Given the description of an element on the screen output the (x, y) to click on. 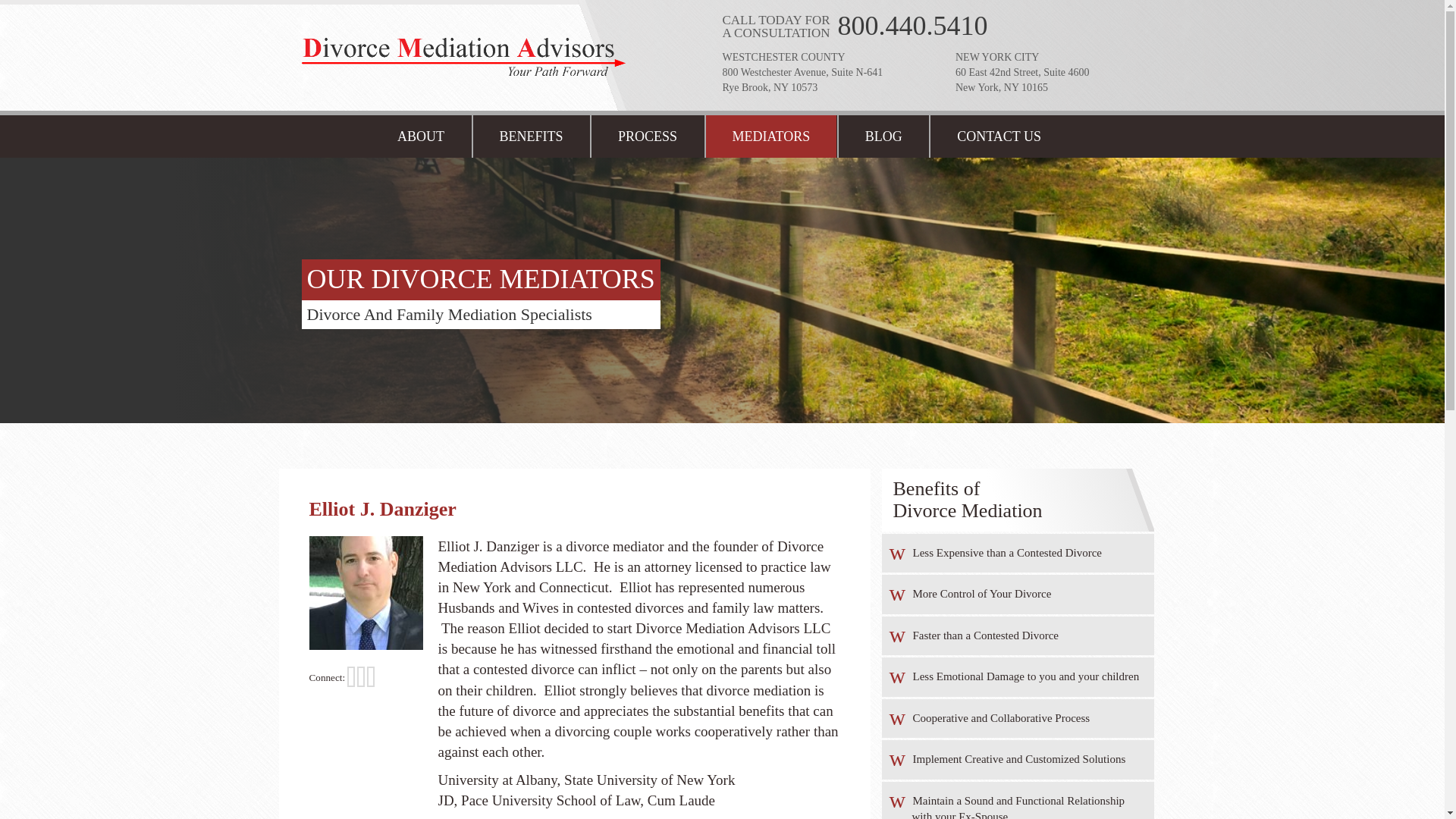
BLOG (882, 136)
MEDIATORS (770, 136)
Divorce Mediation Attorneys (770, 136)
About Divorce Mediation (420, 136)
Connect with Elliot J. Danziger on Twitter (351, 676)
PROCESS (646, 136)
Divorce Mediation Process (646, 136)
CONTACT US (997, 136)
ABOUT (420, 136)
Connect with Elliot J. Danziger on Linkedin (360, 676)
Benefits of Divorce Mediation (530, 136)
Connect with Elliot J. Danziger on Google Plus (370, 676)
BENEFITS (530, 136)
